Given the description of an element on the screen output the (x, y) to click on. 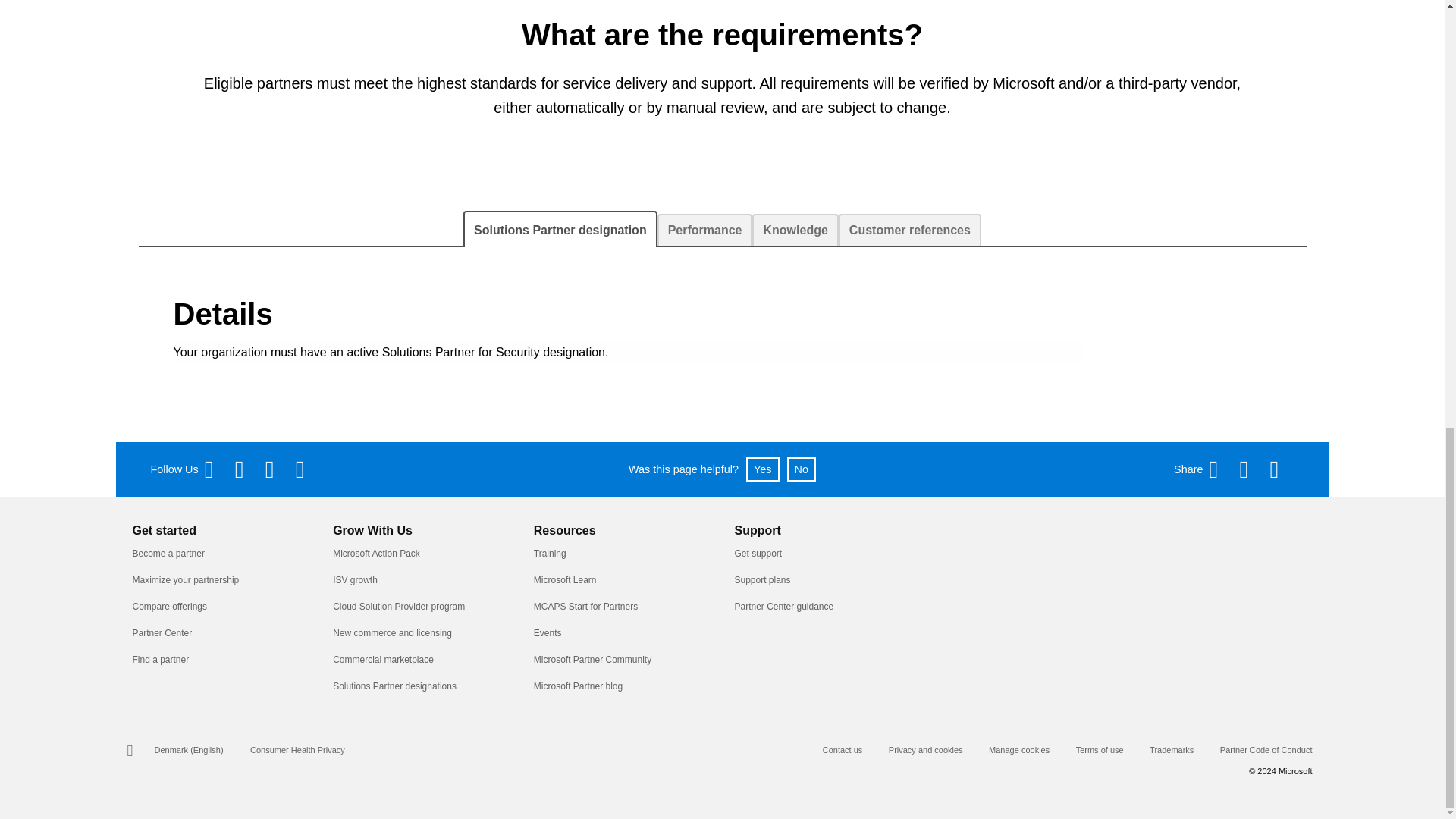
Solutions Partner designation (560, 228)
Follow us on Facebook (216, 469)
Follow us on YouTube (276, 469)
Follow us on Twitter (246, 469)
Follow us on Linkedin (307, 469)
